Given the description of an element on the screen output the (x, y) to click on. 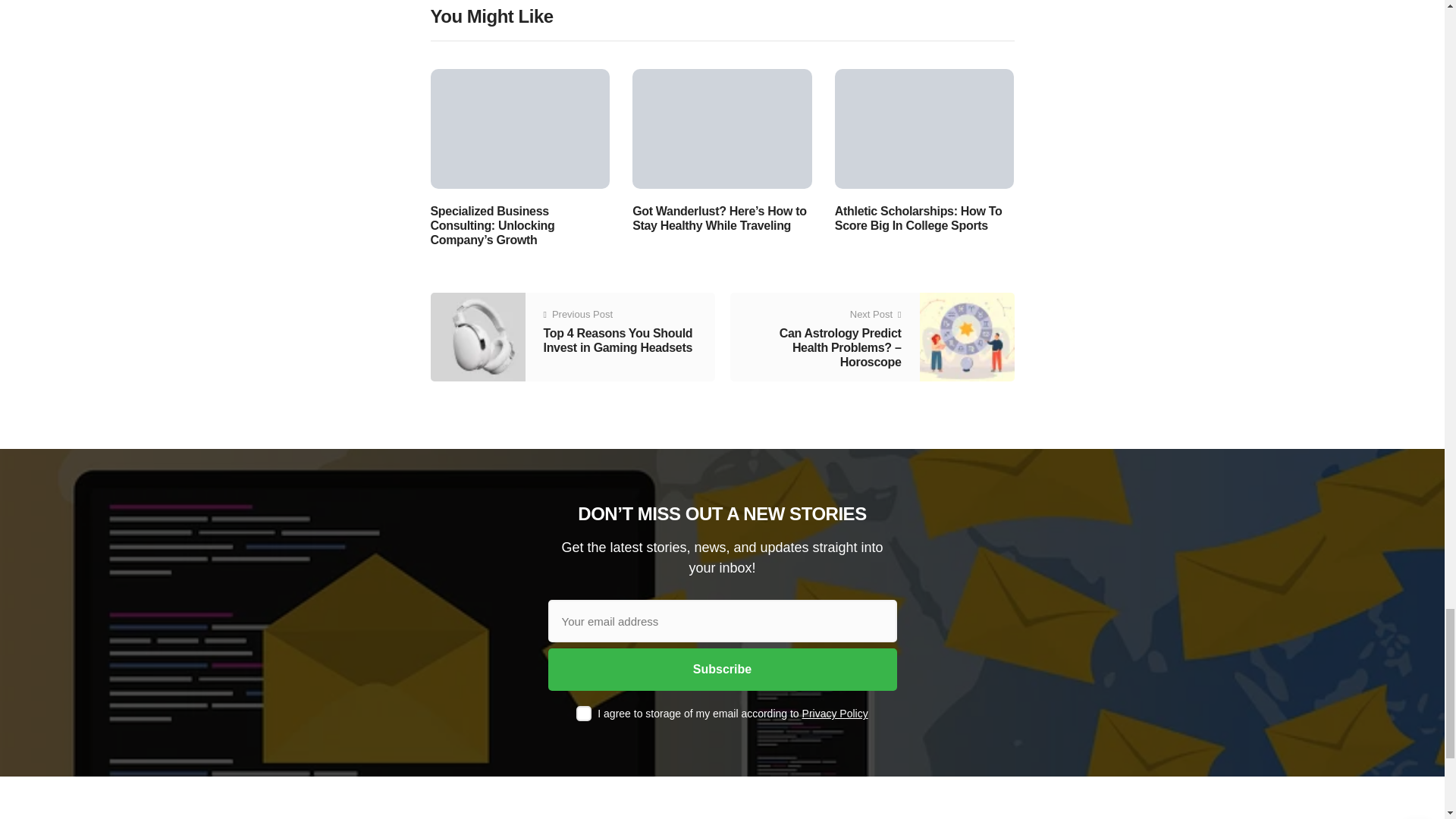
Athletic Scholarships: How To Score Big In College Sports (924, 127)
1 (583, 713)
Subscribe (721, 669)
